Given the description of an element on the screen output the (x, y) to click on. 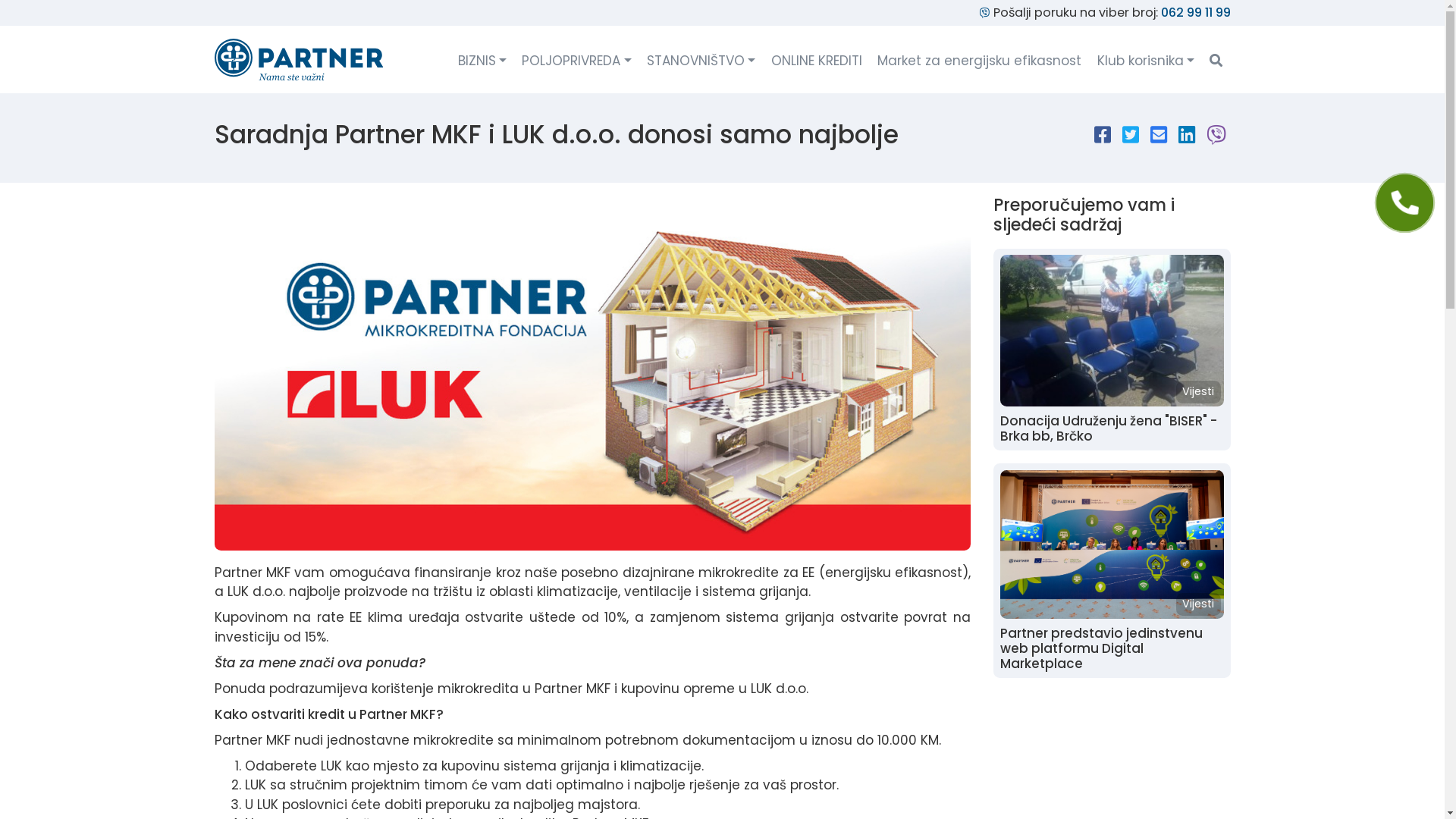
062 99 11 99 Element type: text (1195, 12)
Market za energijsku efikasnost Element type: text (979, 61)
ONLINE KREDITI Element type: text (816, 61)
Klub korisnika Element type: text (1145, 61)
POLJOPRIVREDA Element type: text (577, 61)
BIZNIS Element type: text (481, 61)
